Given the description of an element on the screen output the (x, y) to click on. 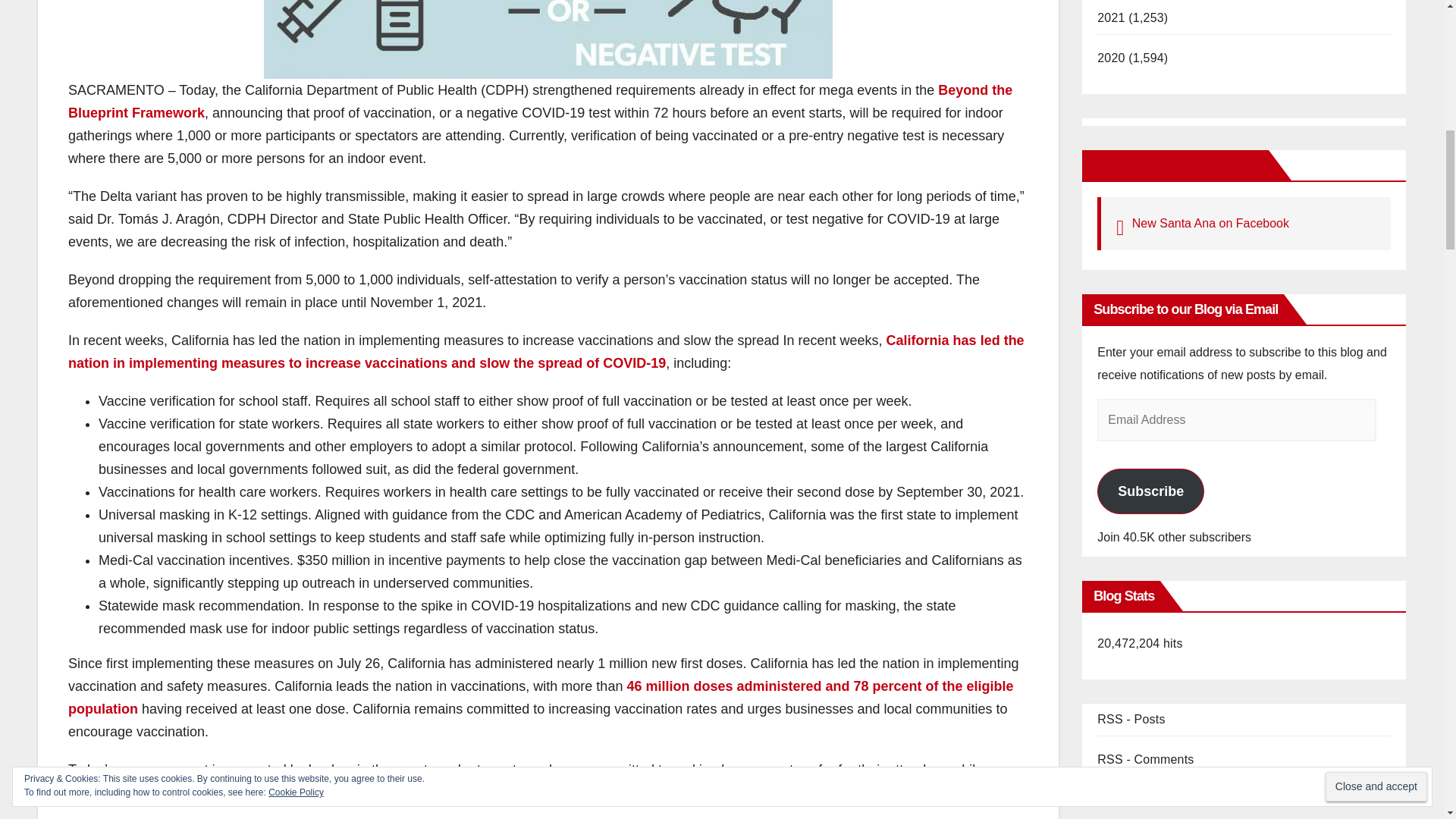
Mask-up-in-CA-at-large-events - New Santa Ana (547, 39)
Beyond the Blueprint Framework (539, 101)
